Given the description of an element on the screen output the (x, y) to click on. 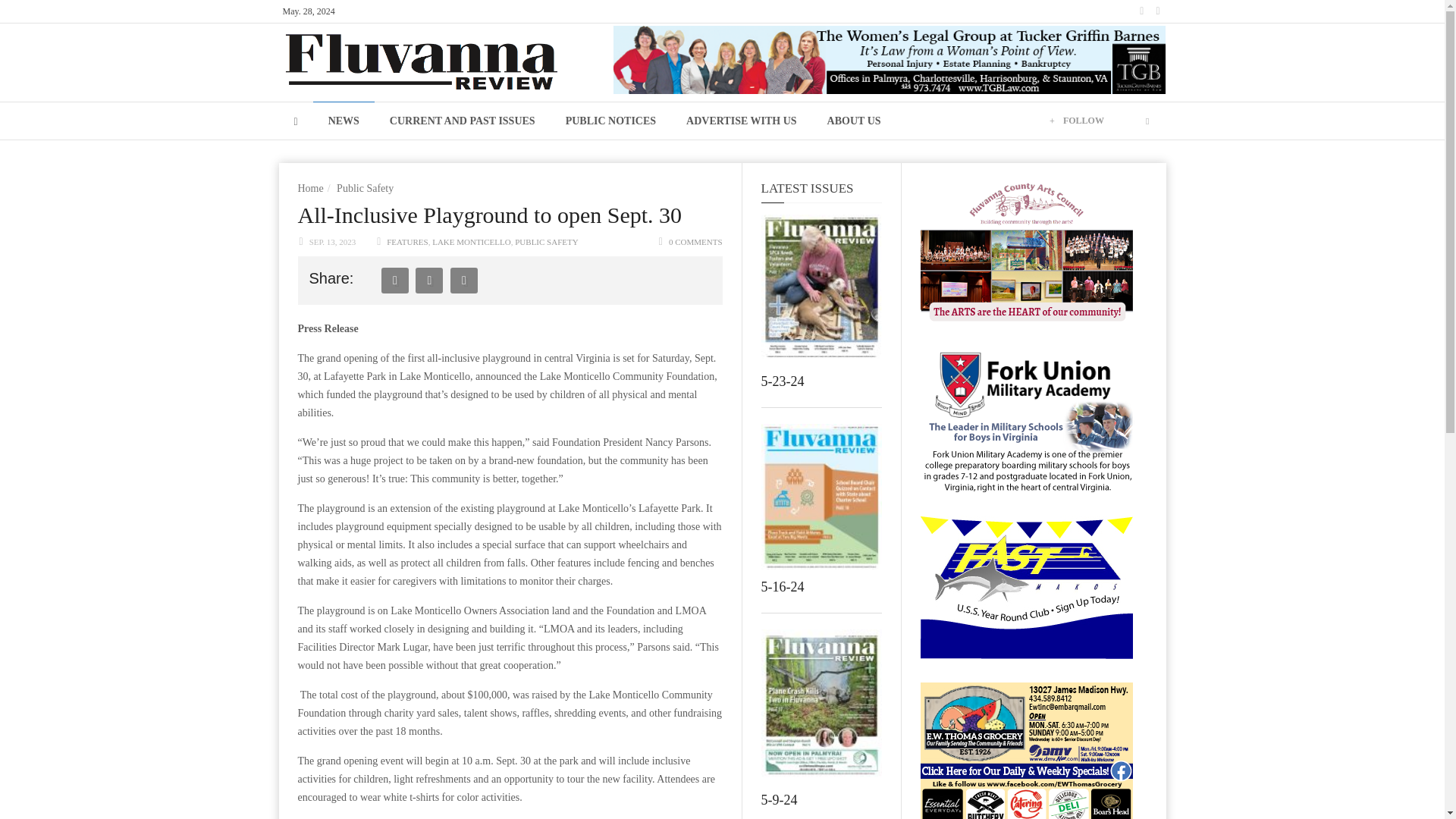
View all posts in Public Safety (546, 241)
View all posts in Lake Monticello (471, 241)
View all posts in Features (407, 241)
Public Safety (364, 188)
NEWS (343, 120)
